Given the description of an element on the screen output the (x, y) to click on. 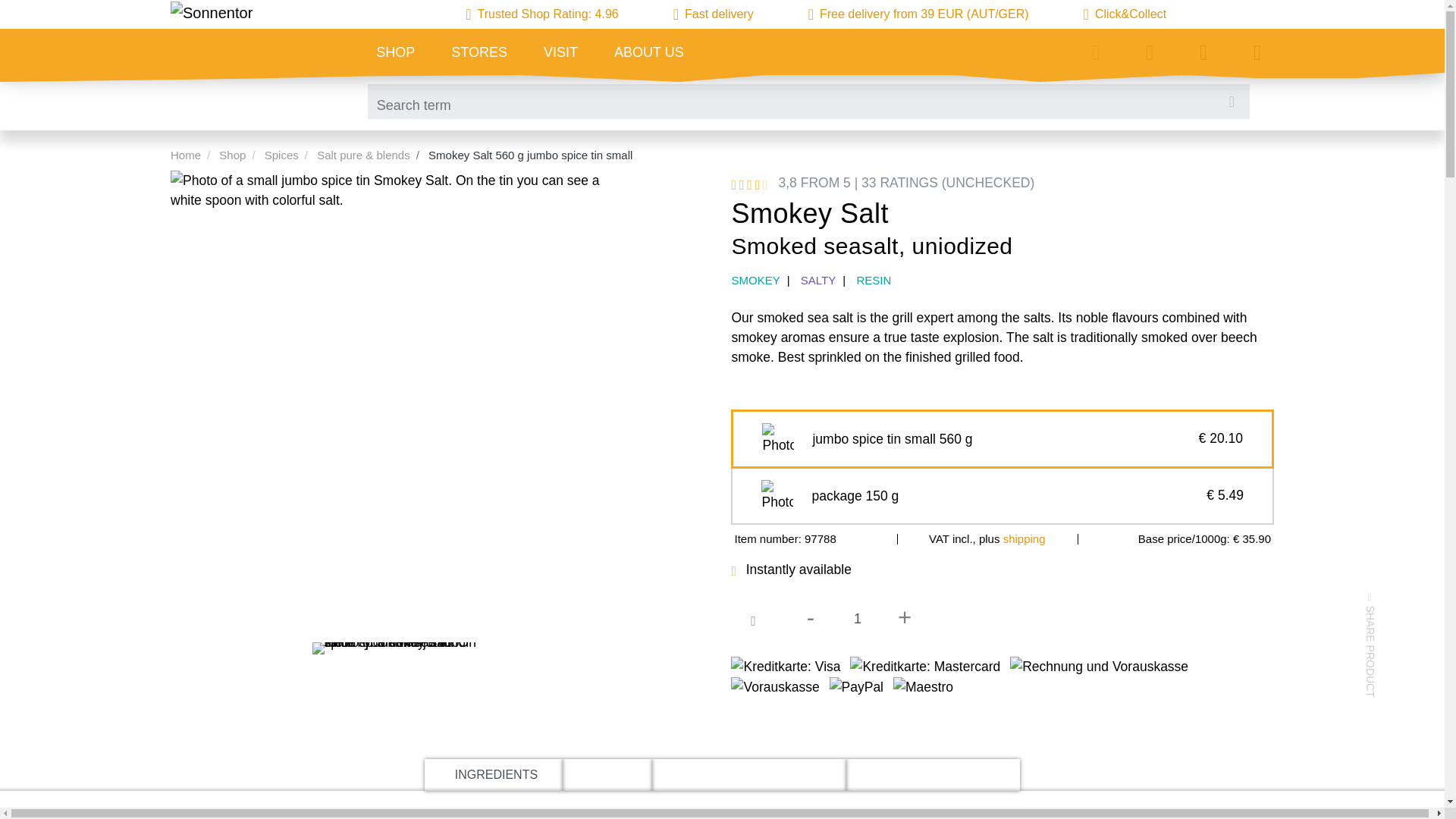
Kreditkarte: Mastercard (925, 666)
SHOP (395, 55)
Fast delivery (713, 14)
Trusted Shop Rating: 4.96 (542, 14)
Maestro (923, 686)
PayPal (856, 686)
Rechnung (1099, 666)
Kreditkarte: Visa (785, 666)
Sonnentor (210, 12)
